Given the description of an element on the screen output the (x, y) to click on. 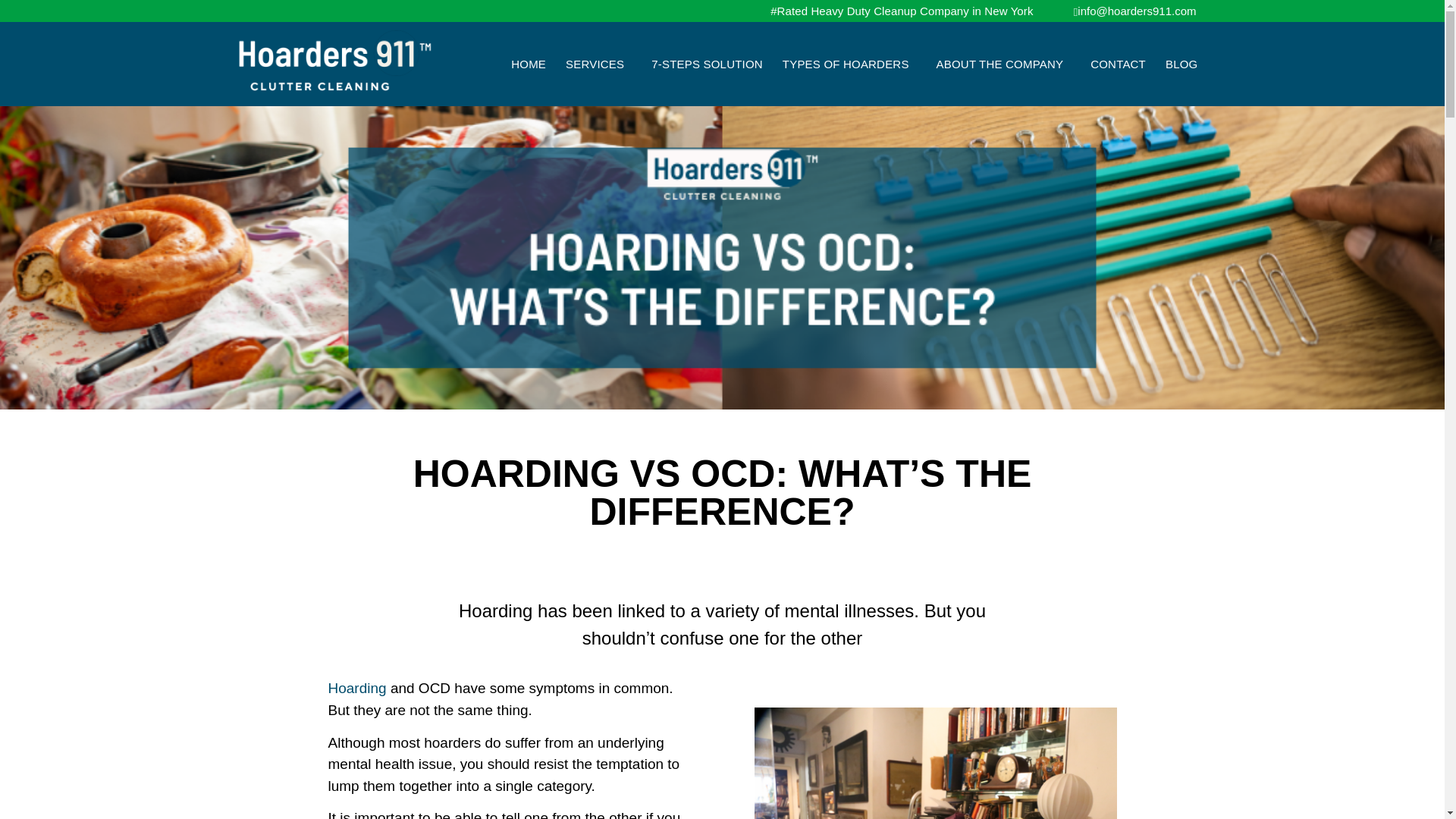
SERVICES (599, 63)
7-STEPS SOLUTION (707, 63)
Hoarding (356, 688)
HOME (528, 63)
BLOG (1181, 63)
ABOUT THE COMPANY (1003, 63)
TYPES OF HOARDERS (849, 63)
CONTACT (1118, 63)
